Given the description of an element on the screen output the (x, y) to click on. 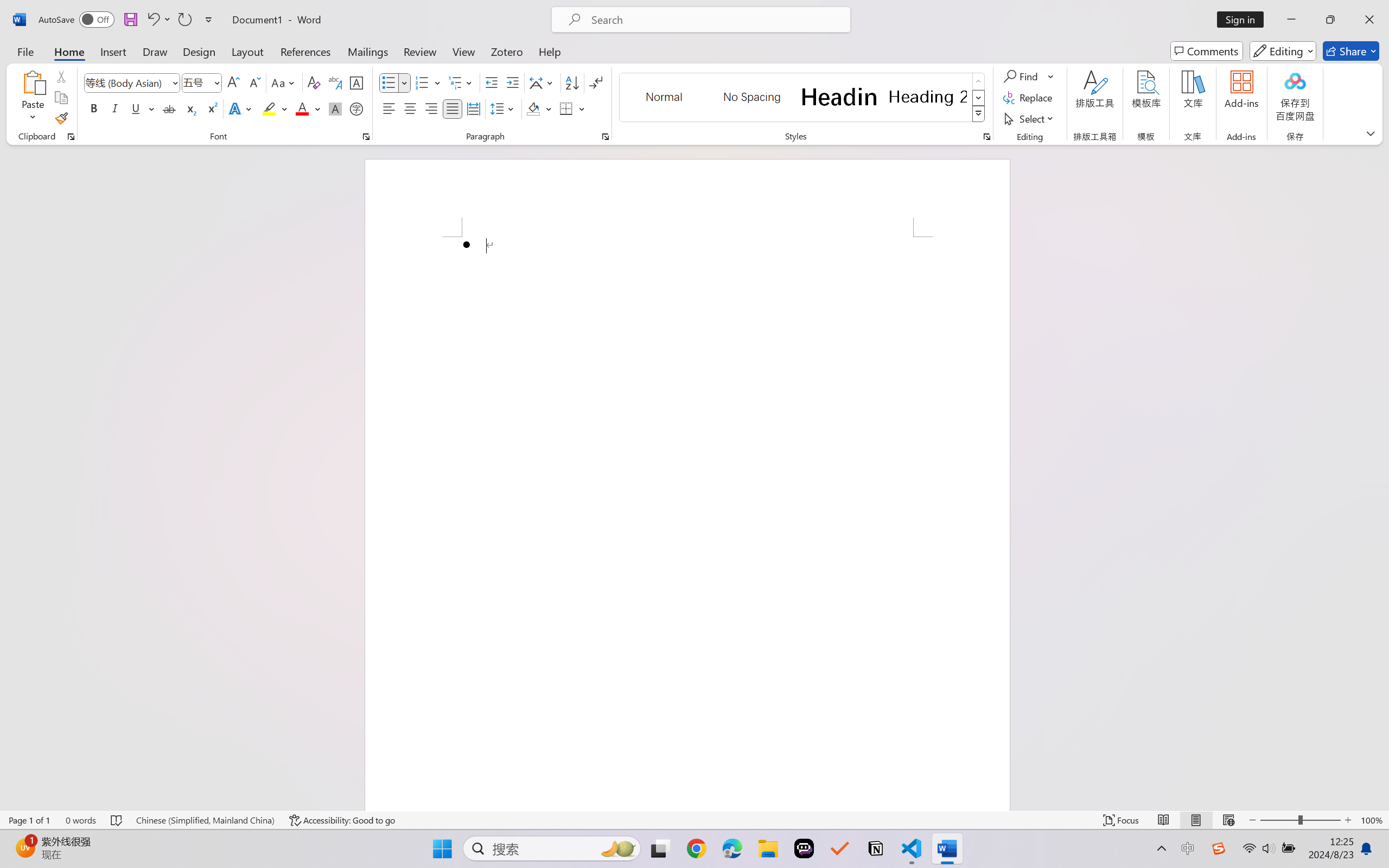
Zoom 100% (1372, 819)
